Given the description of an element on the screen output the (x, y) to click on. 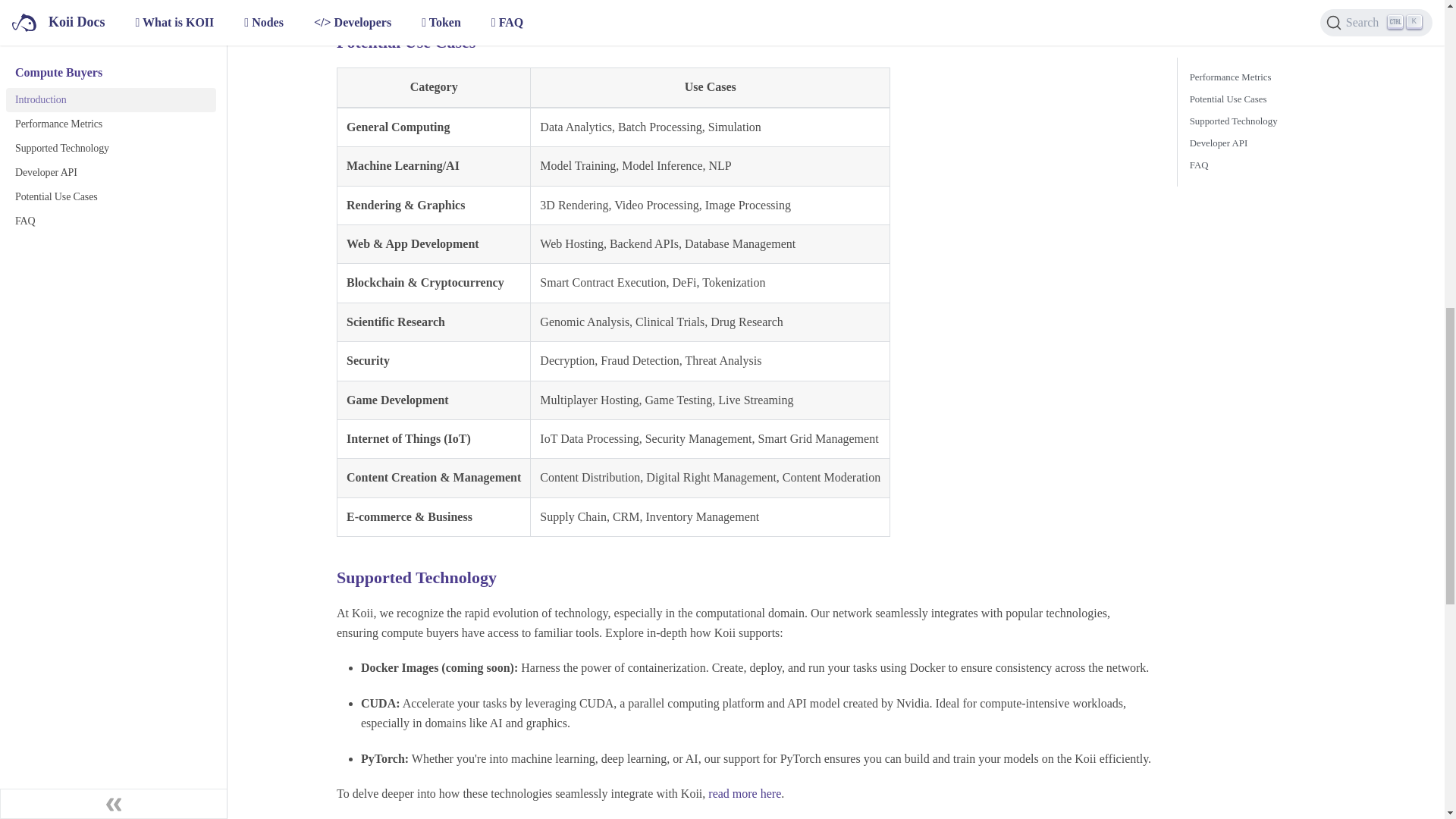
read more here (743, 793)
